Given the description of an element on the screen output the (x, y) to click on. 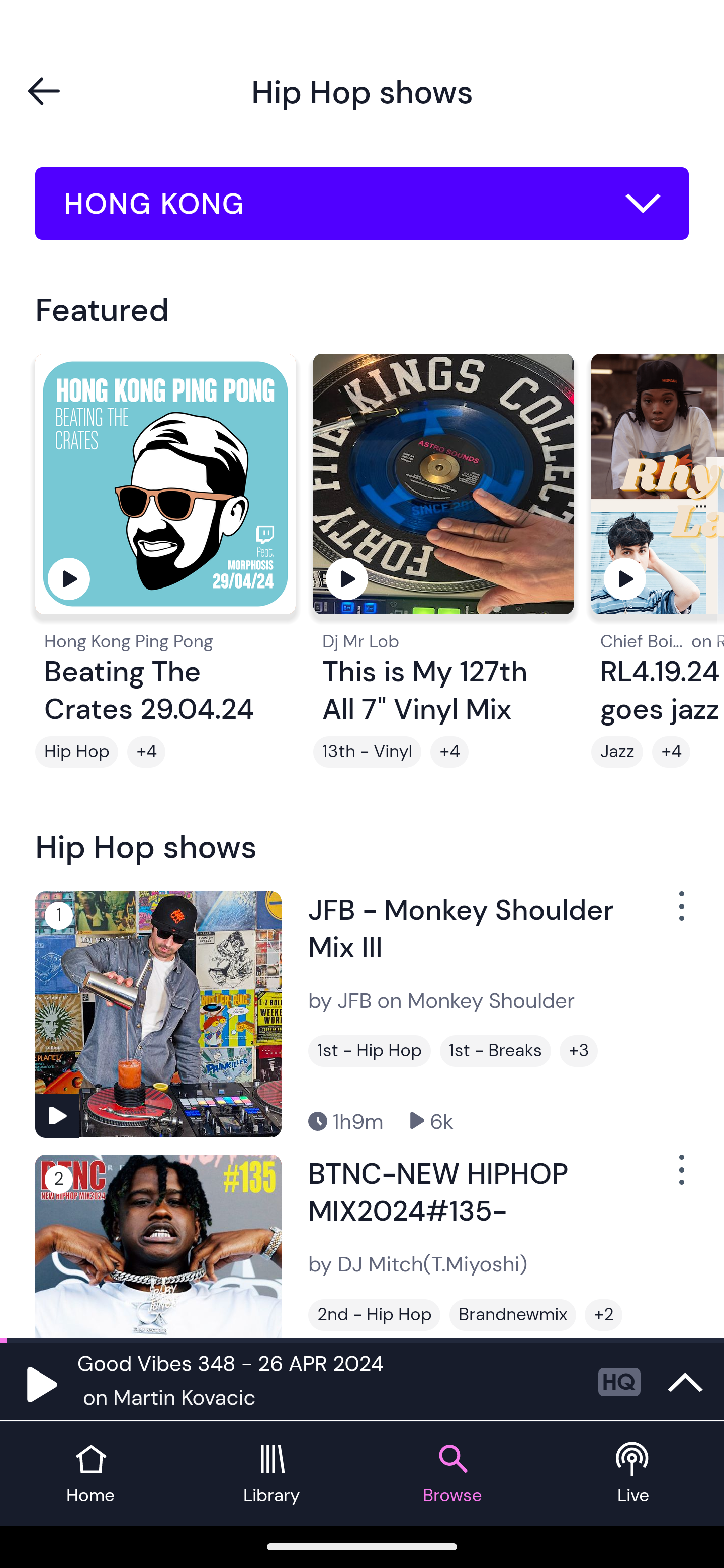
HONG KONG (361, 203)
Hip Hop (76, 752)
13th - Vinyl (367, 752)
Jazz (616, 752)
Show Options Menu Button (679, 913)
1st - Hip Hop (369, 1050)
1st - Breaks (495, 1050)
Show Options Menu Button (679, 1178)
2nd - Hip Hop (374, 1315)
Brandnewmix (512, 1315)
Home tab Home (90, 1473)
Library tab Library (271, 1473)
Browse tab Browse (452, 1473)
Live tab Live (633, 1473)
